Given the description of an element on the screen output the (x, y) to click on. 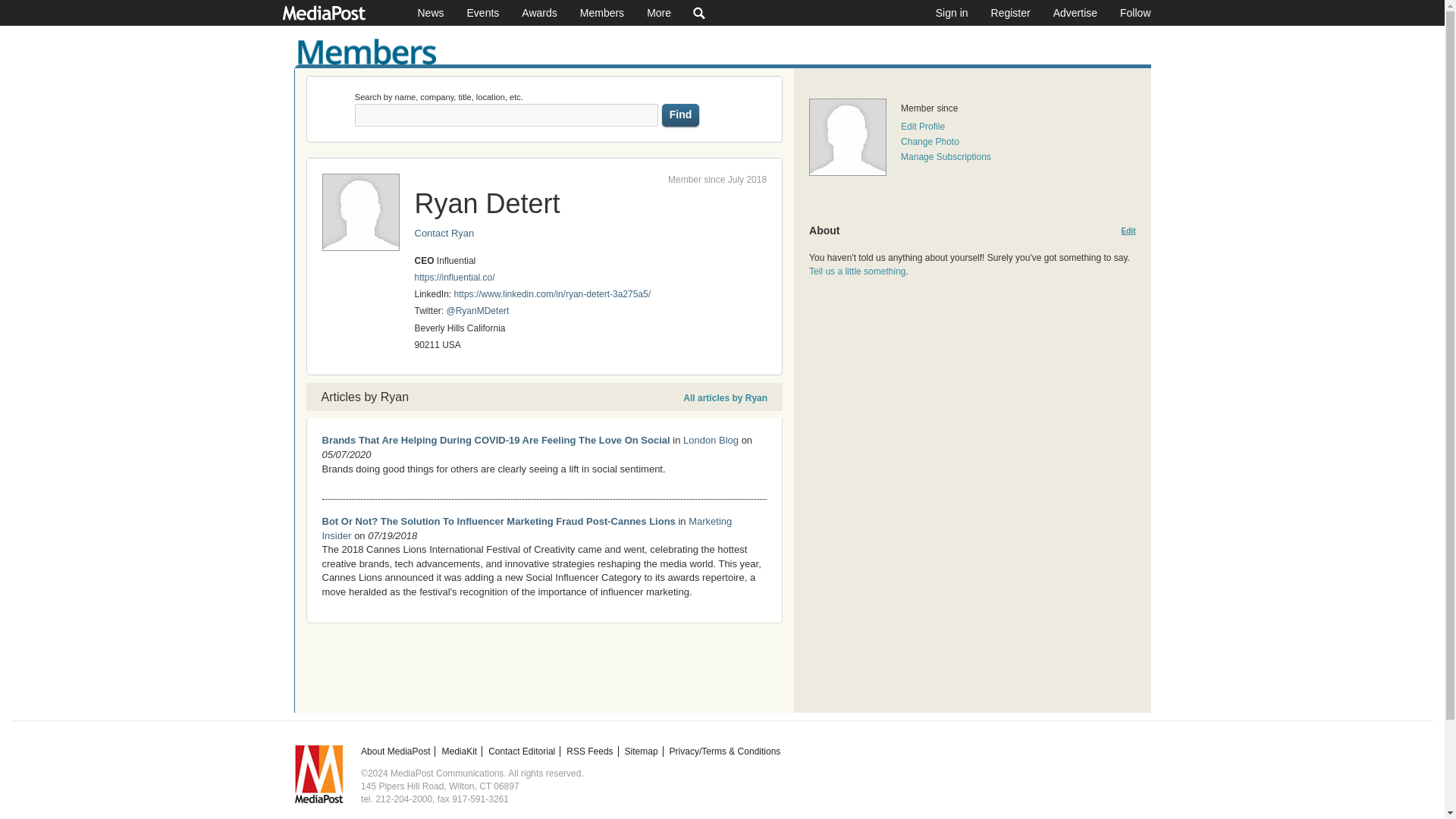
News (430, 12)
Find (681, 115)
